Given the description of an element on the screen output the (x, y) to click on. 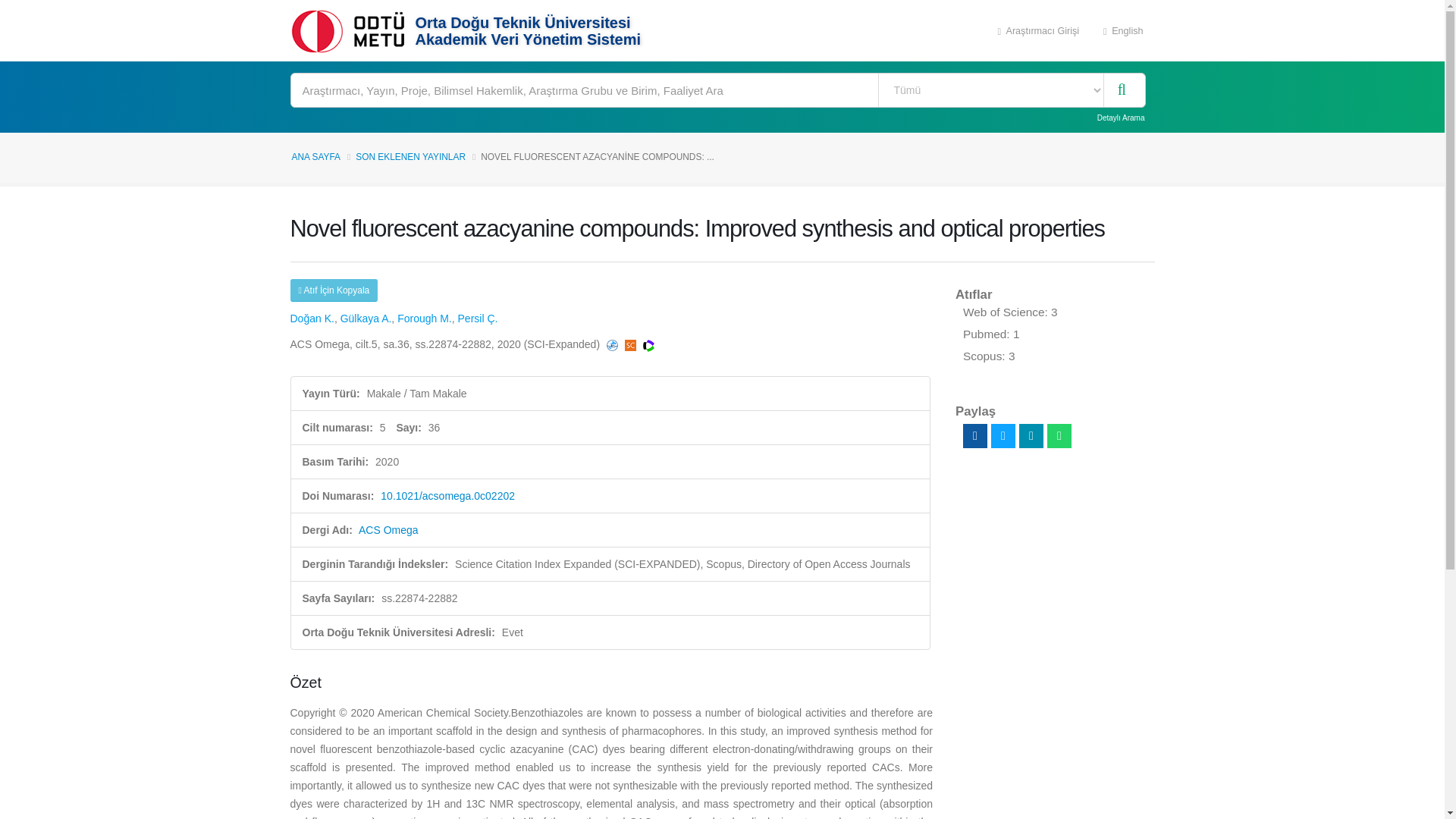
Forough M. (424, 318)
ANA SAYFA (315, 156)
English (1123, 31)
SON EKLENEN YAYINLAR (410, 156)
ACS Omega (388, 530)
